Given the description of an element on the screen output the (x, y) to click on. 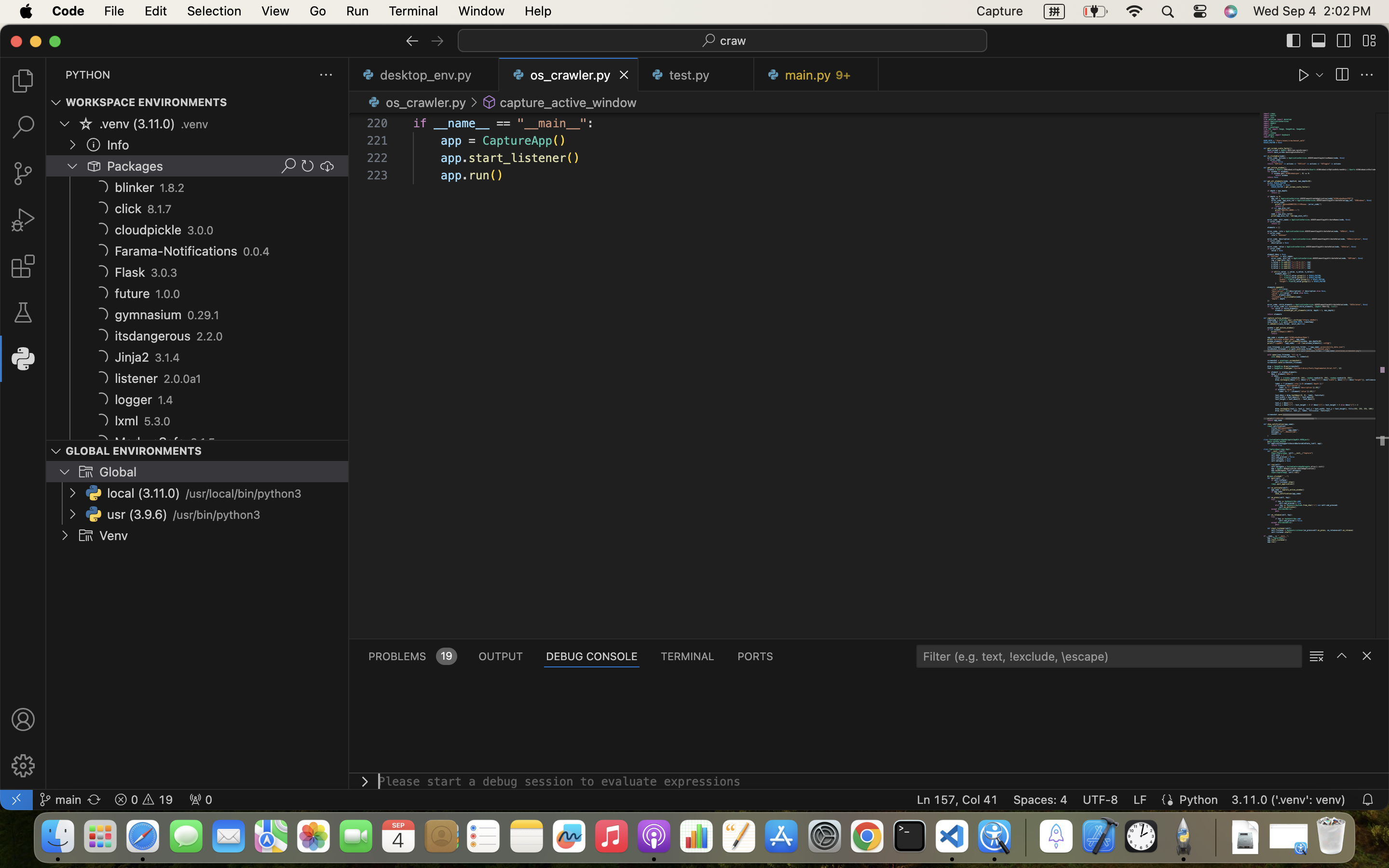
 Element type: AXGroup (1303, 74)
itsdangerous Element type: AXStaticText (152, 335)
 Element type: AXButton (307, 165)
 Element type: AXButton (288, 165)
 Element type: AXButton (326, 165)
